Given the description of an element on the screen output the (x, y) to click on. 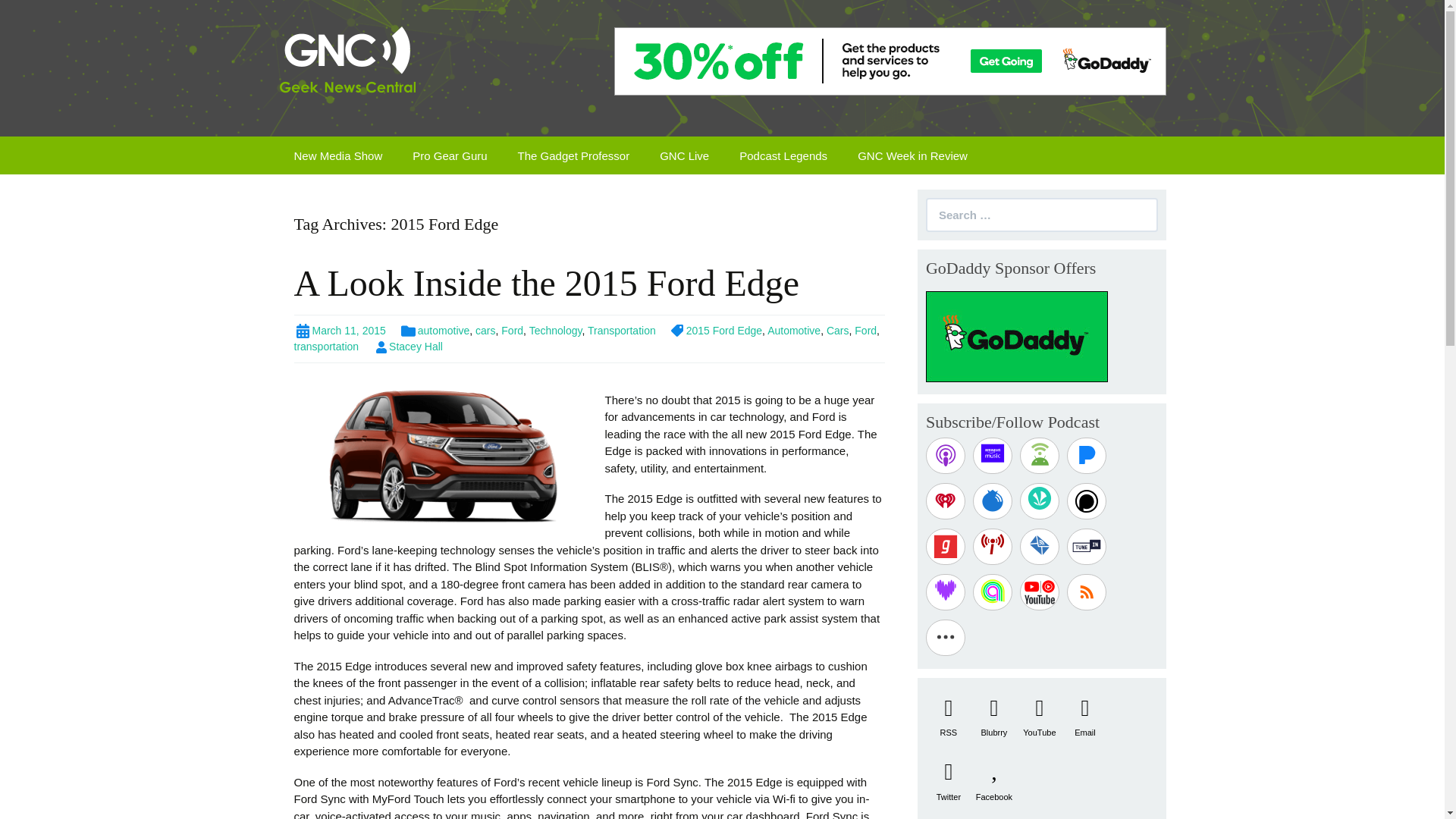
Permalink to A Look Inside the 2015 Ford Edge (339, 330)
2015 Ford Edge (716, 330)
Subscribe on iHeartRadio (945, 501)
Search (23, 11)
Geek News Central (346, 62)
Ford (865, 330)
The Gadget Professor (573, 155)
Subscribe on Podchaser (1086, 501)
transportation (326, 346)
A Look Inside the 2015 Ford Edge (546, 282)
